Given the description of an element on the screen output the (x, y) to click on. 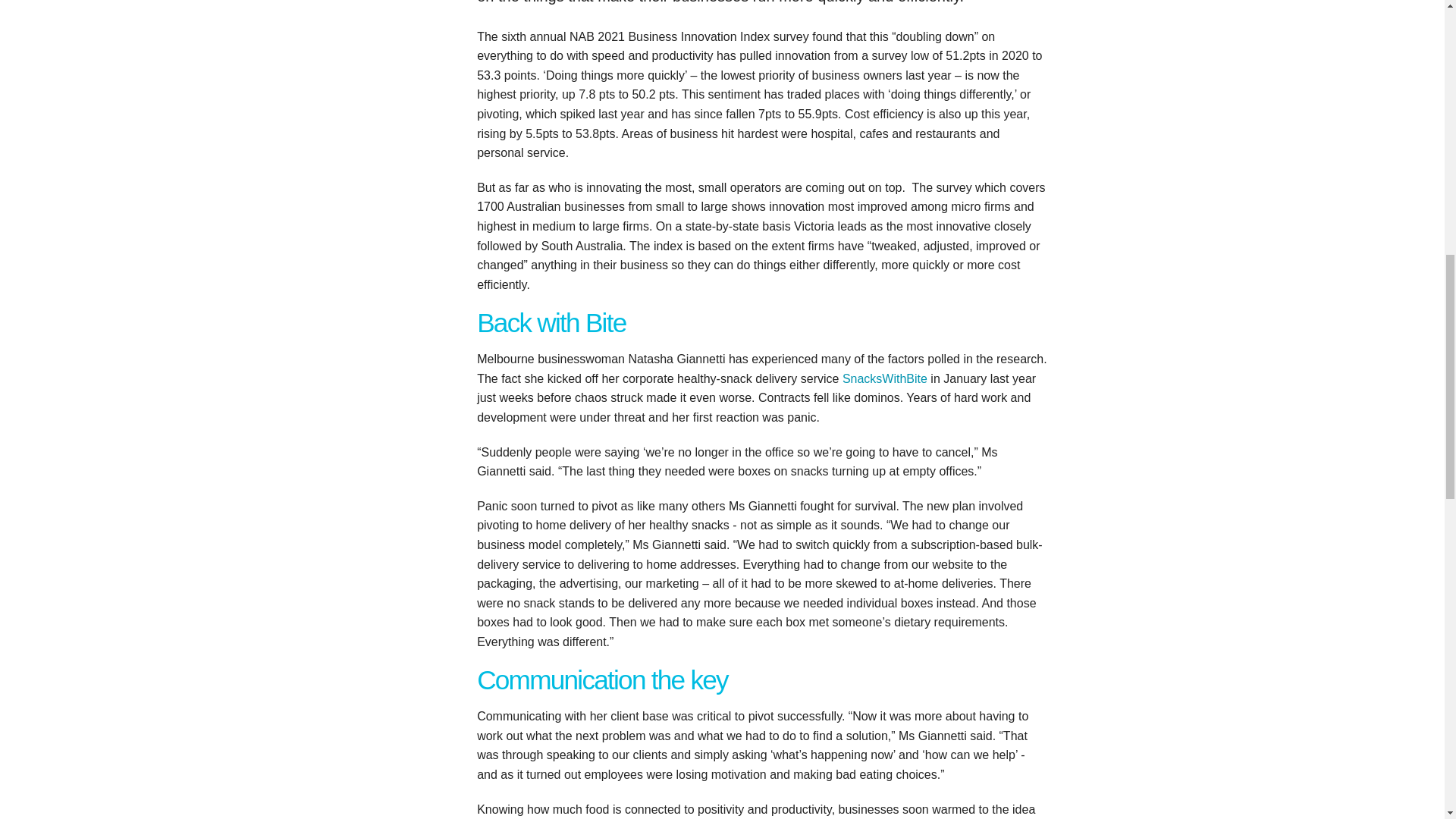
SnacksWithBite (885, 378)
